Given the description of an element on the screen output the (x, y) to click on. 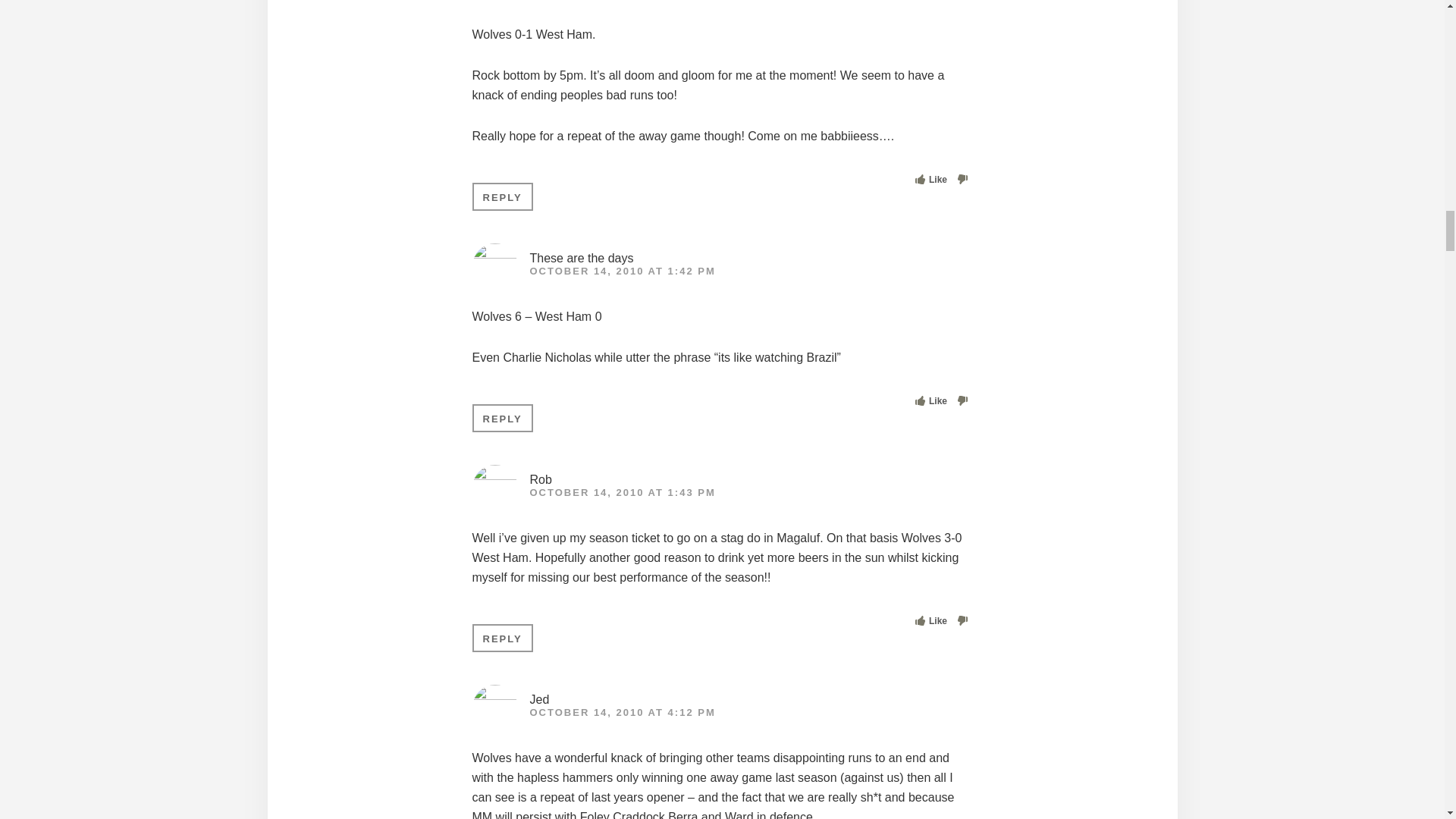
REPLY (501, 196)
REPLY (501, 637)
OCTOBER 14, 2010 AT 1:43 PM (621, 491)
OCTOBER 14, 2010 AT 4:12 PM (621, 712)
REPLY (501, 418)
OCTOBER 14, 2010 AT 1:42 PM (621, 270)
